Given the description of an element on the screen output the (x, y) to click on. 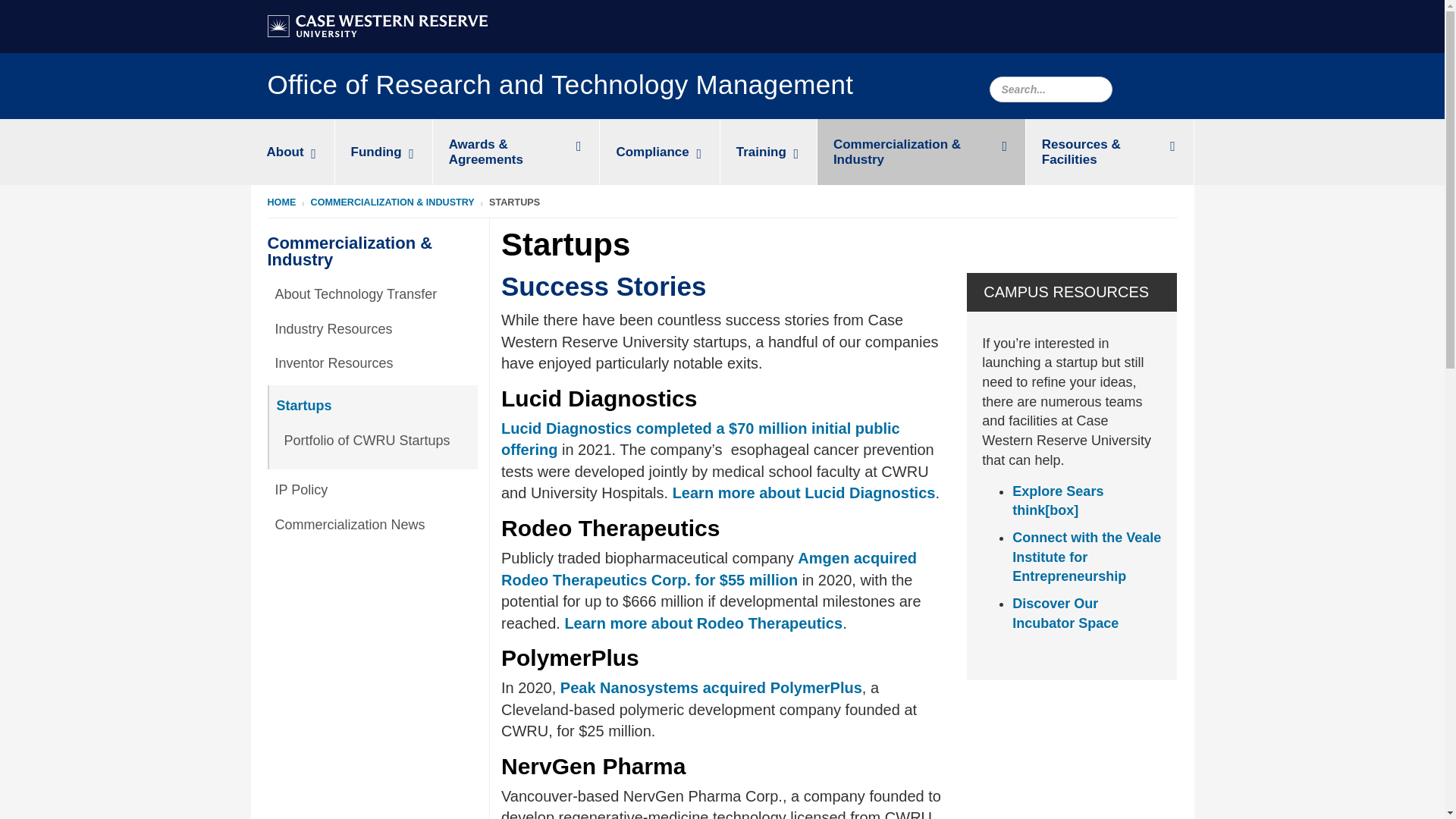
Office of Research and Technology Management (559, 88)
About (291, 151)
Go to case.edu (376, 24)
Compliance (659, 151)
Training (768, 151)
Funding (383, 151)
Case Western Reserve University (376, 25)
searchbox (1050, 89)
